Given the description of an element on the screen output the (x, y) to click on. 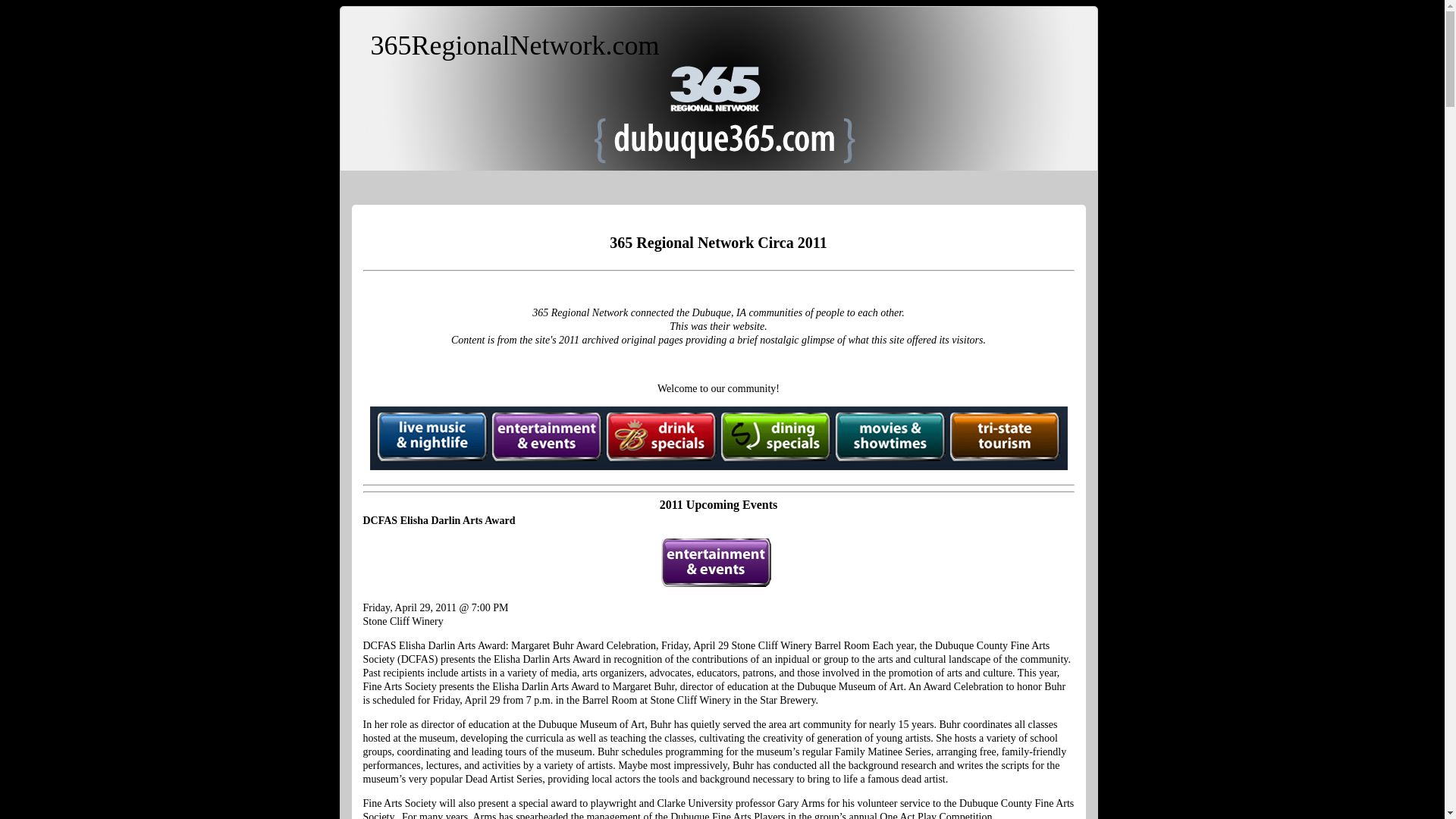
365RegionalNetwork.com Element type: text (514, 45)
